Given the description of an element on the screen output the (x, y) to click on. 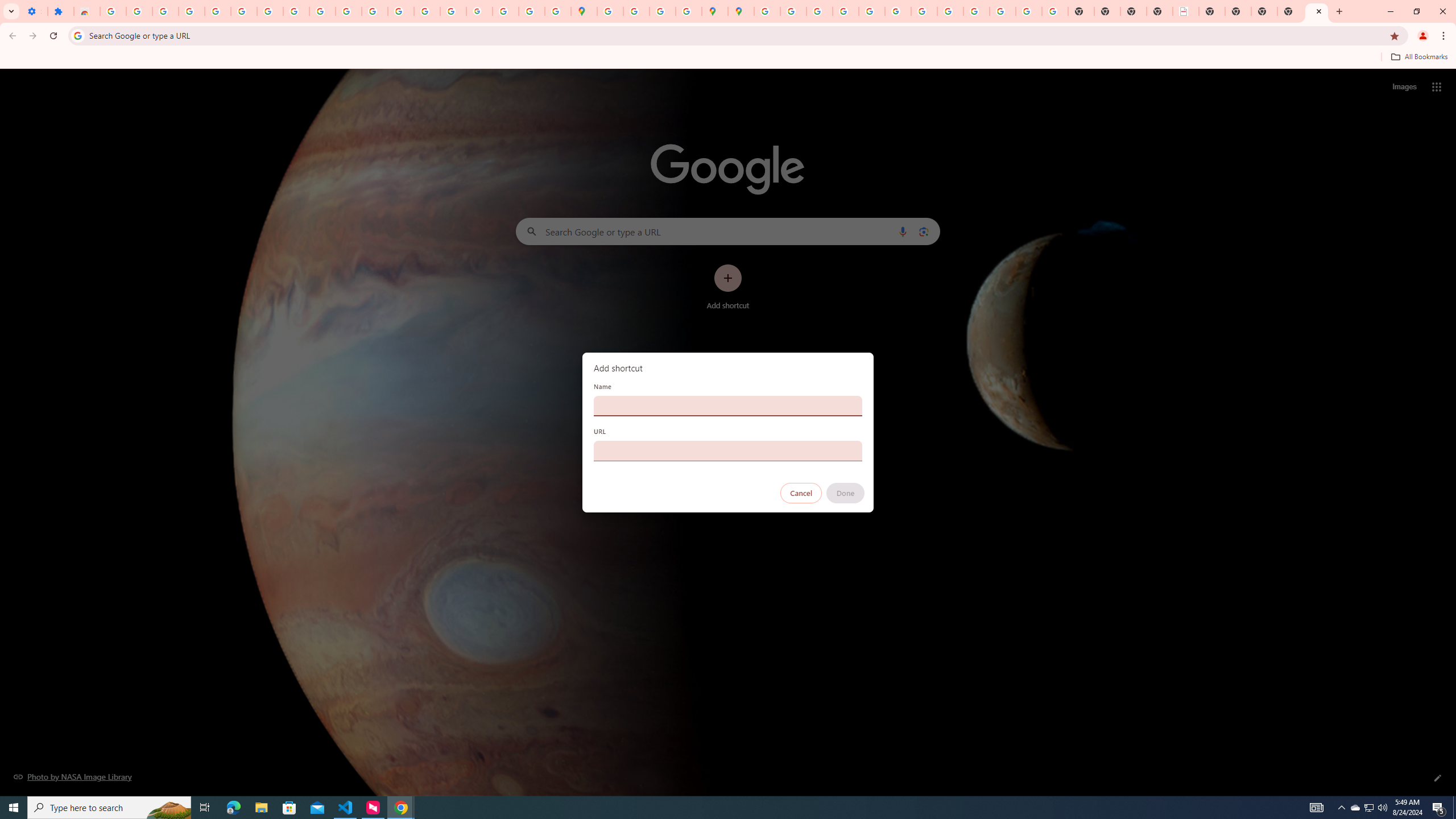
Google Account (296, 11)
LAAD Defence & Security 2025 | BAE Systems (1185, 11)
New Tab (1316, 11)
Safety in Our Products - Google Safety Center (689, 11)
Name (727, 405)
